Given the description of an element on the screen output the (x, y) to click on. 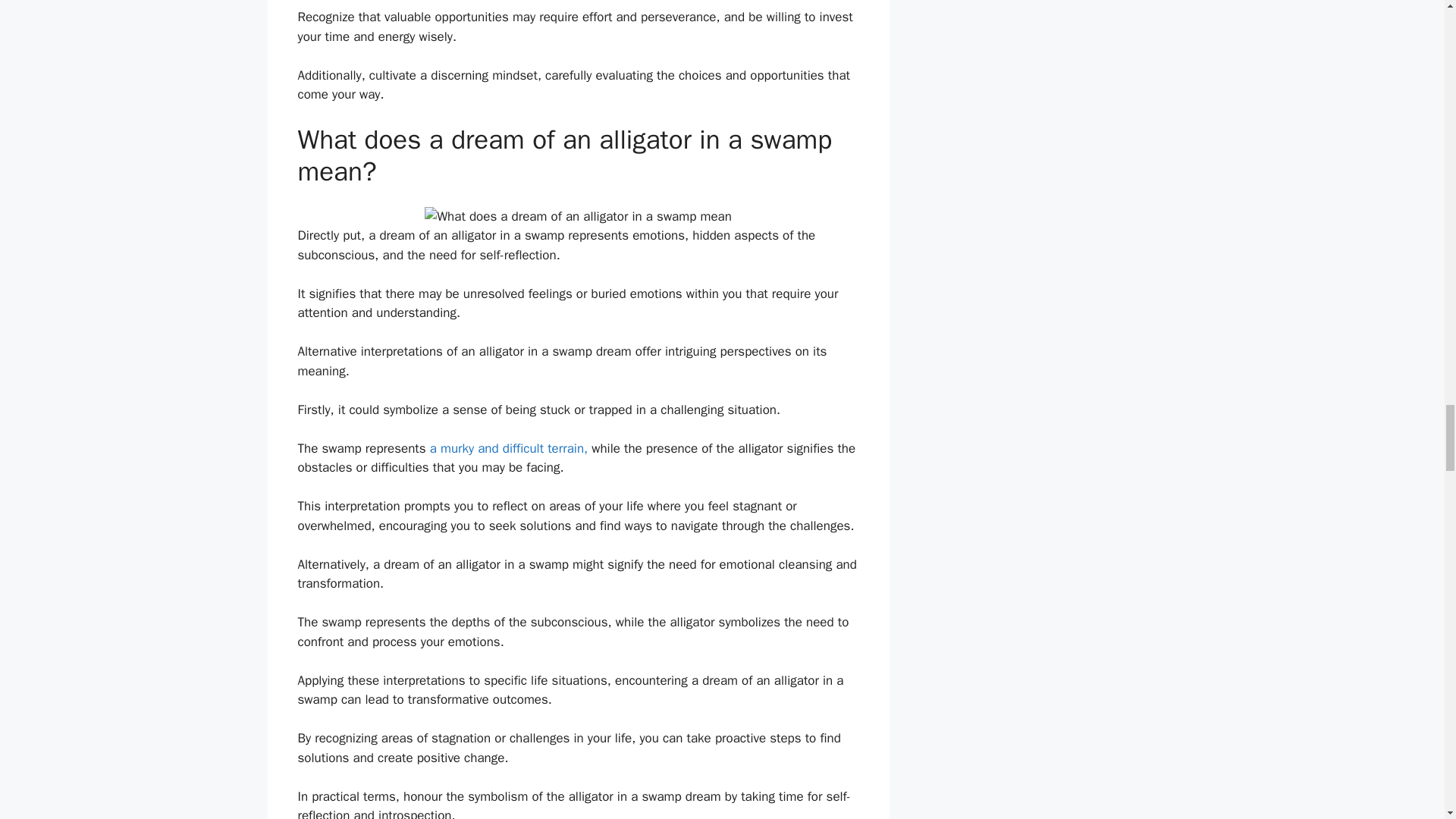
a murky and difficult terrain, (508, 448)
